Given the description of an element on the screen output the (x, y) to click on. 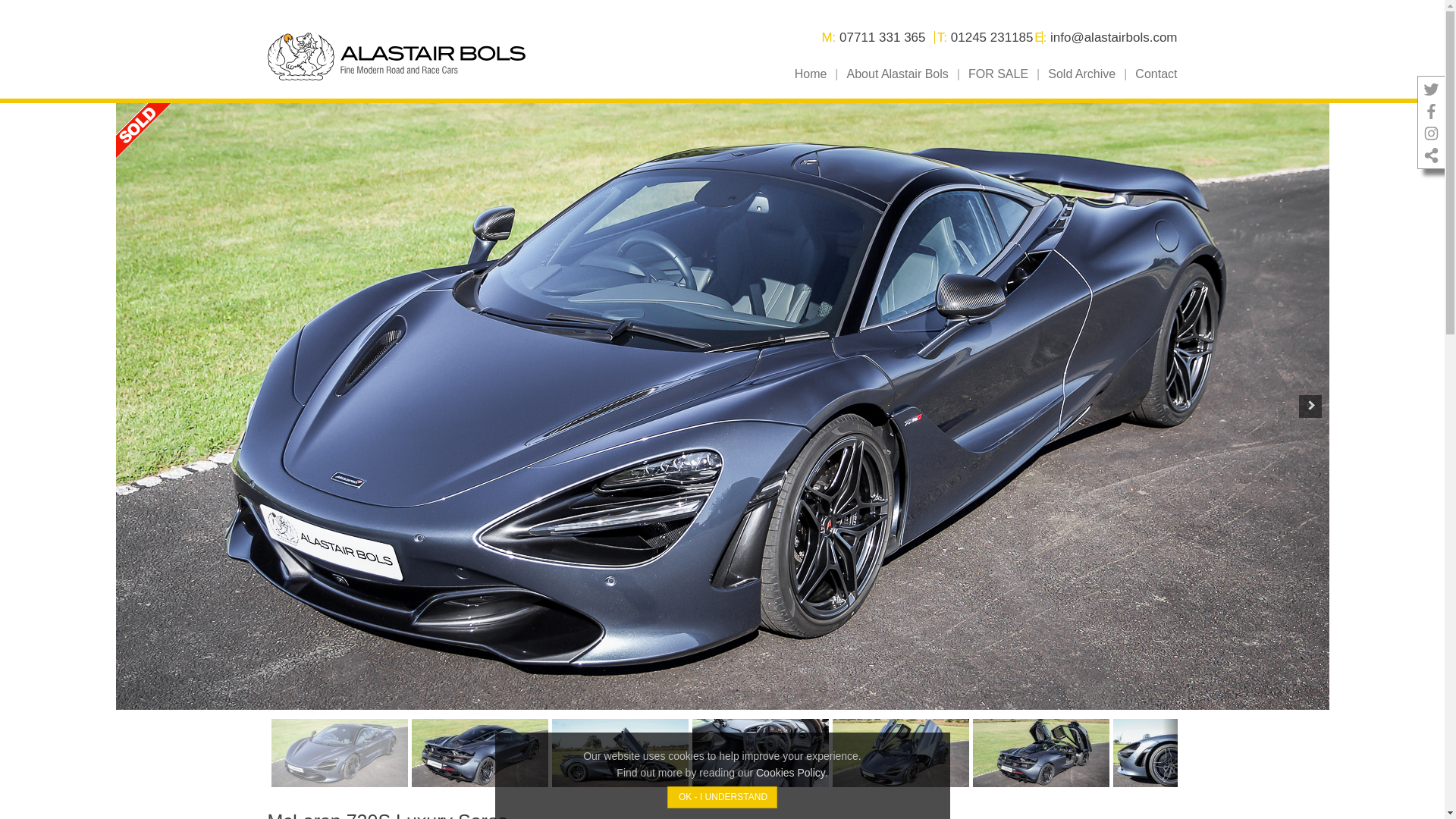
FOR SALE (1003, 82)
07711 331 365 (882, 37)
01245 231185 (991, 37)
Contact (1155, 82)
Sold Archive (1087, 82)
Cookies Policy (790, 772)
OK - I Understand (721, 797)
OK - I Understand (721, 797)
About Alastair Bols (903, 82)
Home (816, 82)
